Given the description of an element on the screen output the (x, y) to click on. 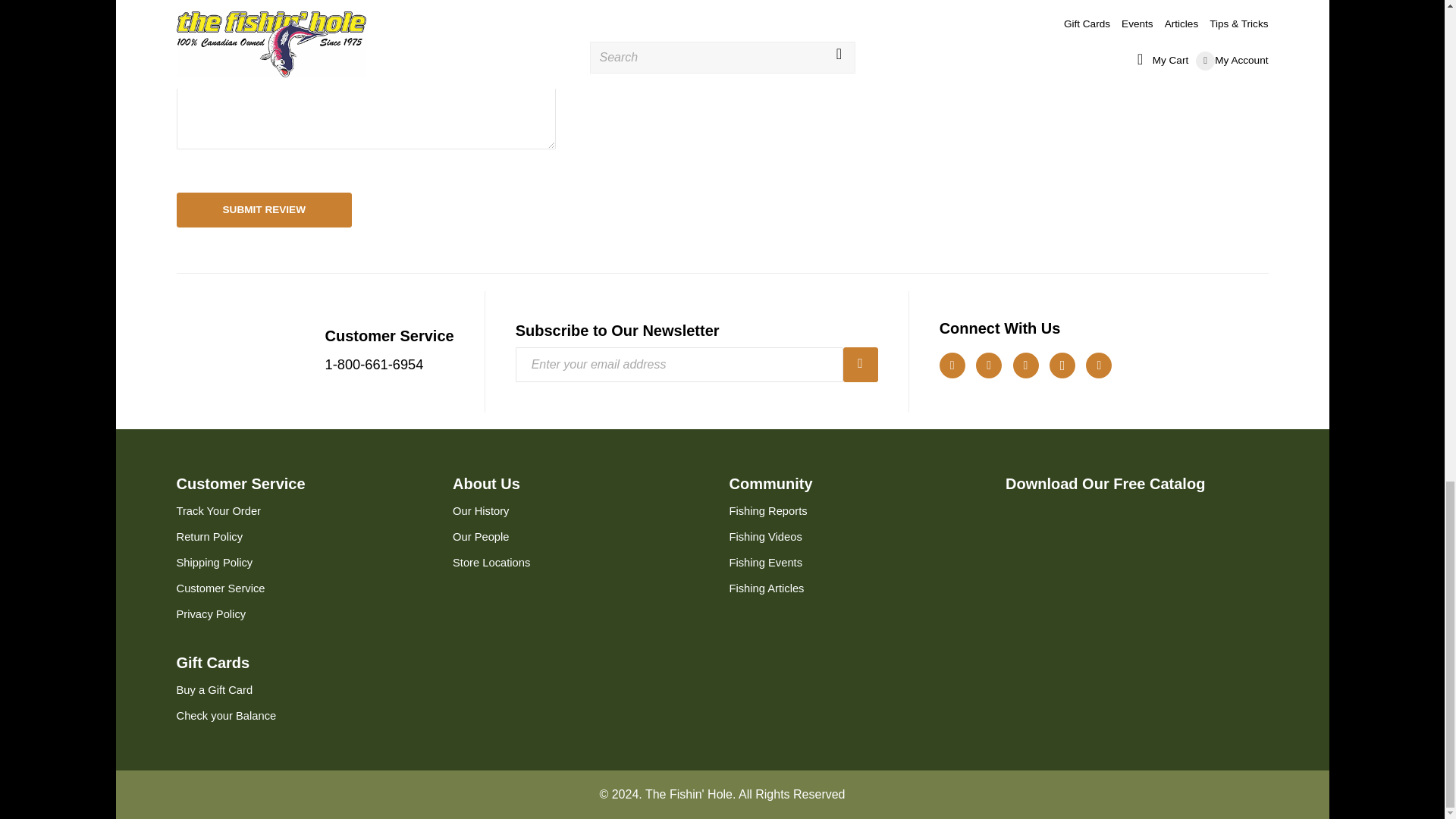
Sign up (860, 364)
Return Policy (209, 536)
Shipping Policy (213, 562)
